Given the description of an element on the screen output the (x, y) to click on. 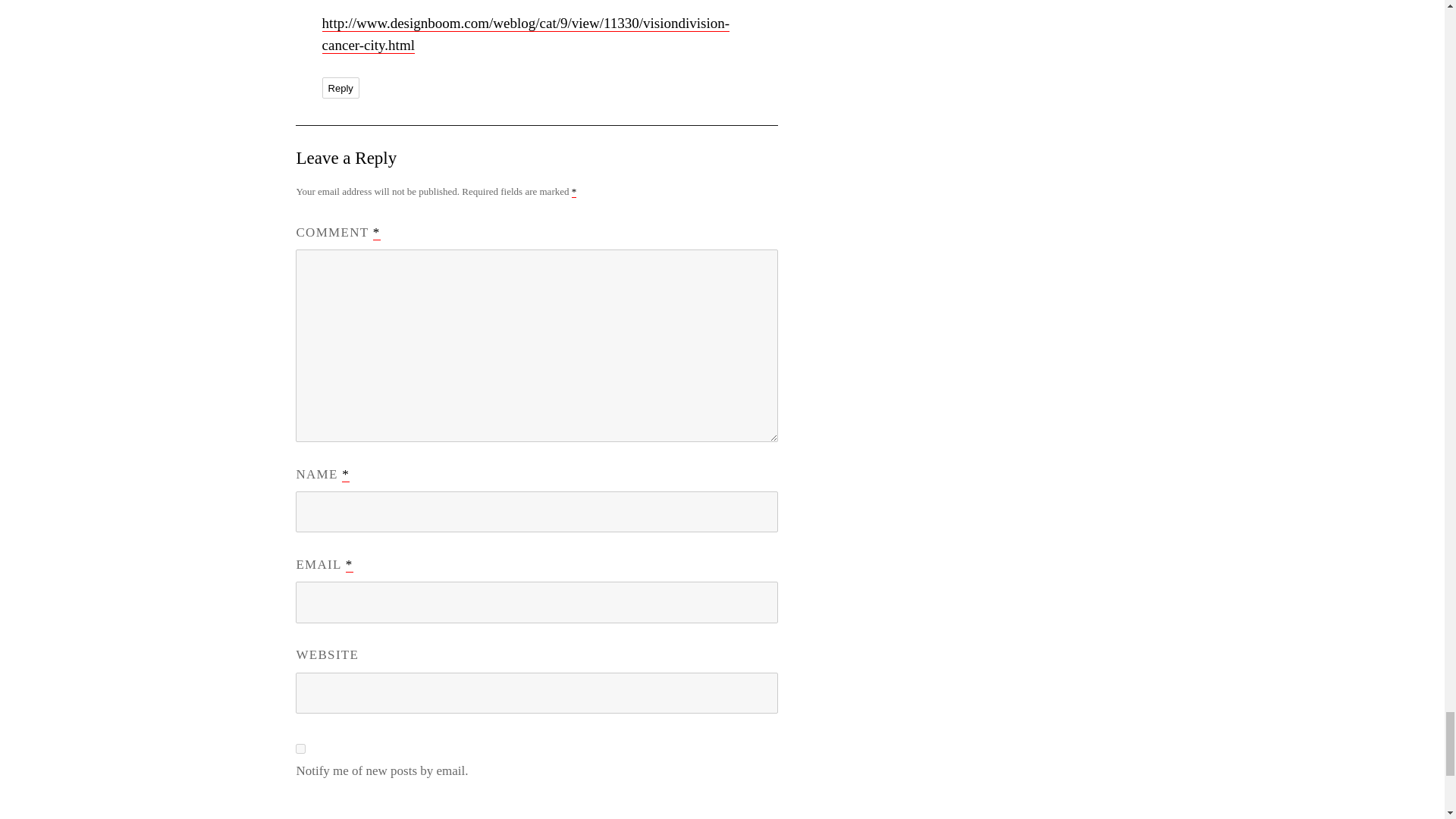
subscribe (300, 748)
Post Comment (370, 811)
